Given the description of an element on the screen output the (x, y) to click on. 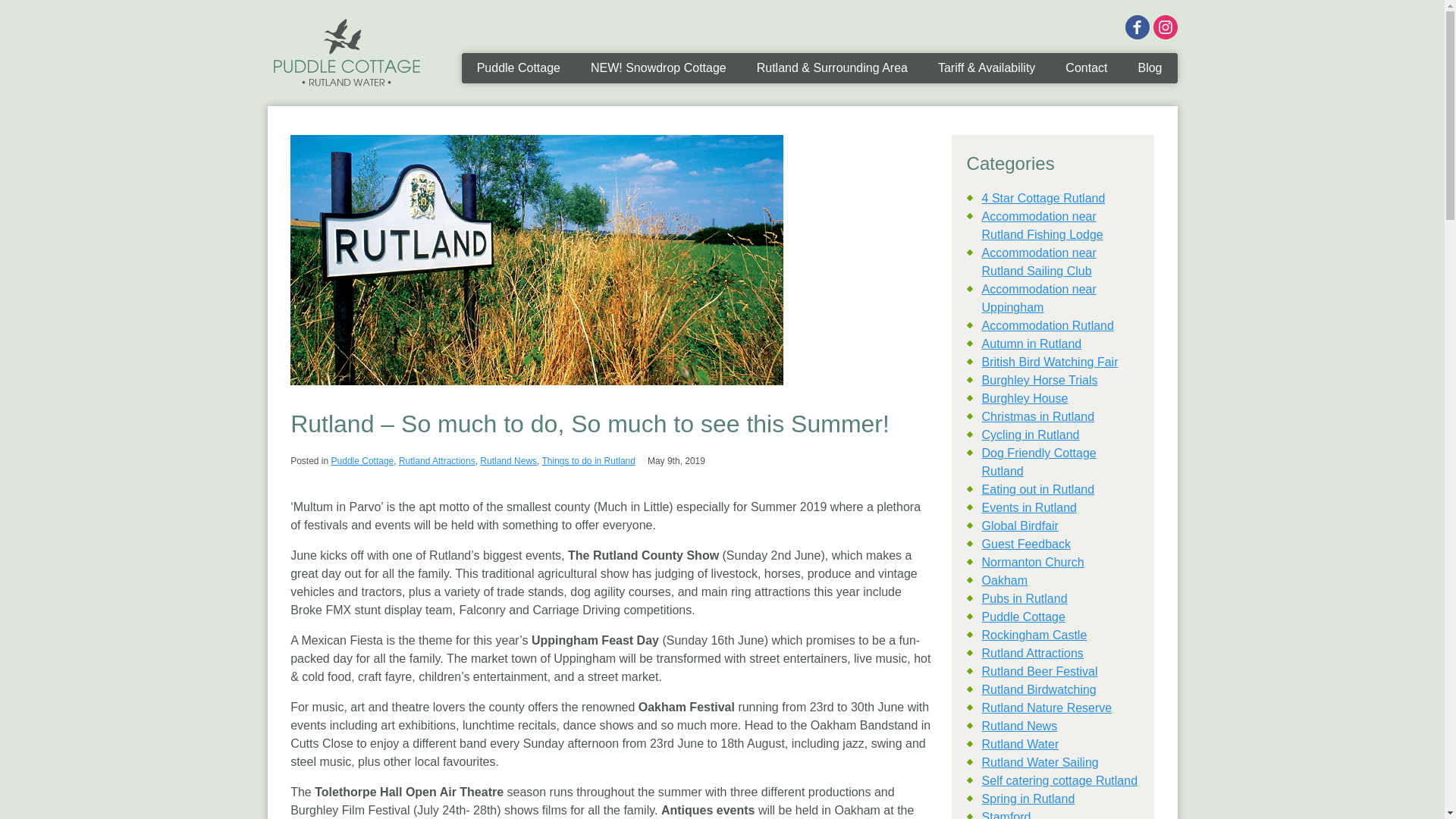
Eating out in Rutland (1037, 489)
Rutland Beer Festival (1039, 671)
Blog (1149, 68)
Puddle Cottage (1023, 616)
NEW! Snowdrop Cottage (658, 68)
Puddle Cottage (518, 68)
Accommodation near Uppingham (1038, 297)
Oakham (1004, 580)
Burghley Horse Trials (1039, 379)
Contact (1085, 68)
Rutland Attractions (437, 460)
Puddle Cottage (346, 52)
Rockingham Castle (1034, 634)
Global Birdfair (1019, 525)
Rutland Attractions (1032, 653)
